Given the description of an element on the screen output the (x, y) to click on. 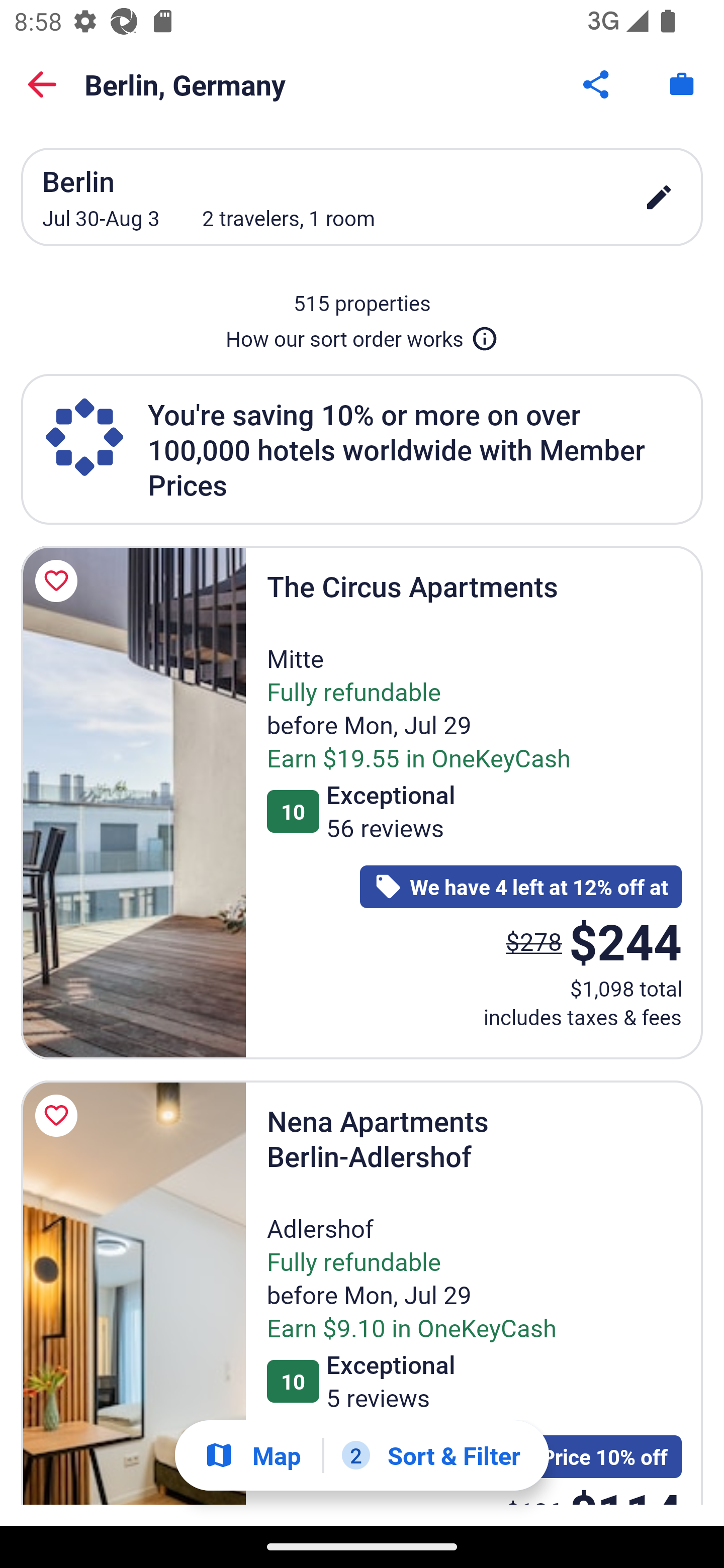
Back (42, 84)
Share Button (597, 84)
Trips. Button (681, 84)
Berlin Jul 30-Aug 3 2 travelers, 1 room edit (361, 196)
How our sort order works (361, 334)
Save The Circus Apartments to a trip (59, 580)
The Circus Apartments (133, 802)
$278 The price was $278 (533, 940)
Save Nena Apartments Berlin-Adlershof to a trip (59, 1115)
Nena Apartments Berlin-Adlershof (133, 1292)
2 Sort & Filter 2 Filters applied. Filters Button (430, 1455)
Show map Map Show map Button (252, 1455)
